Given the description of an element on the screen output the (x, y) to click on. 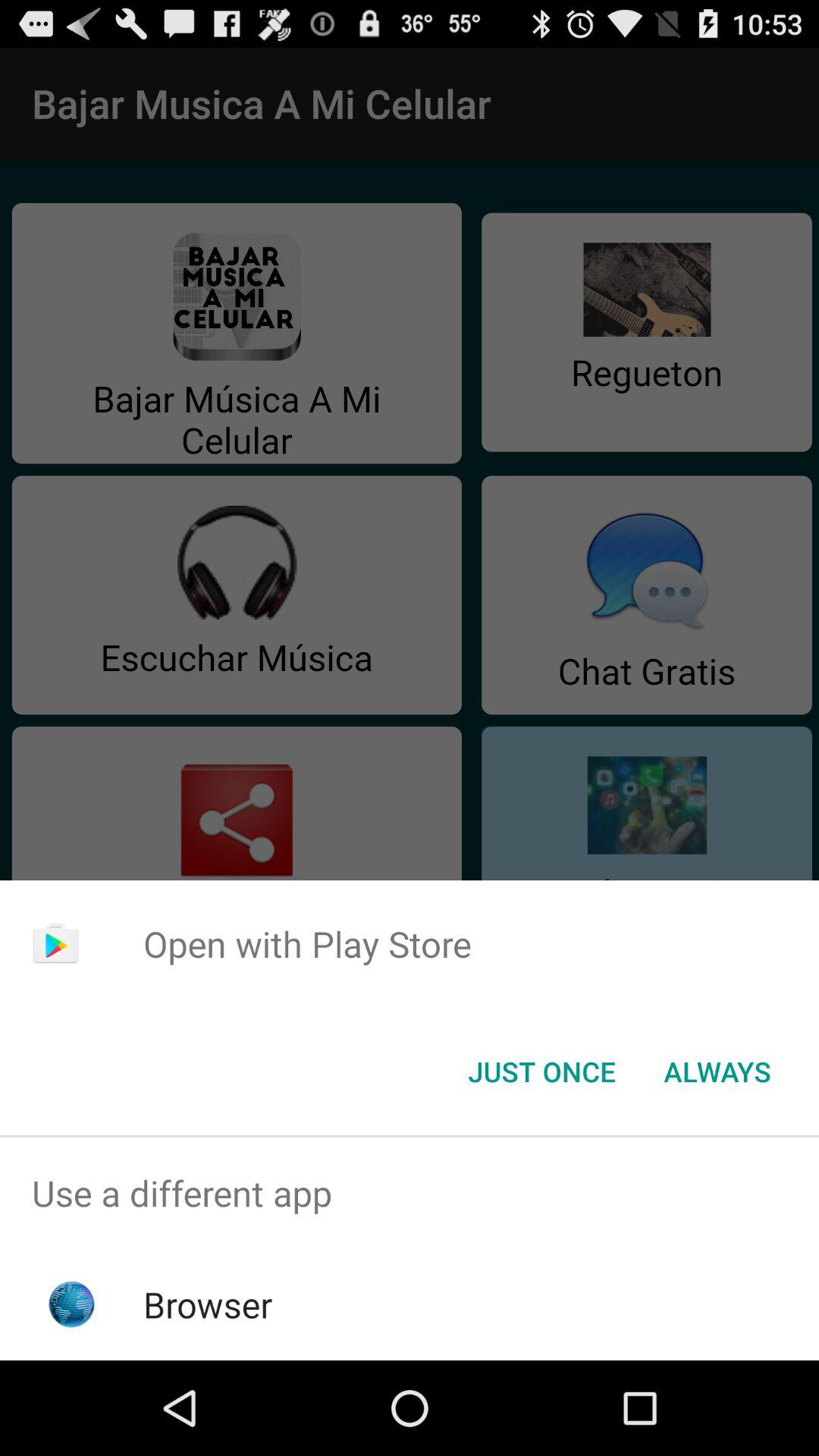
click item next to the just once item (717, 1071)
